Given the description of an element on the screen output the (x, y) to click on. 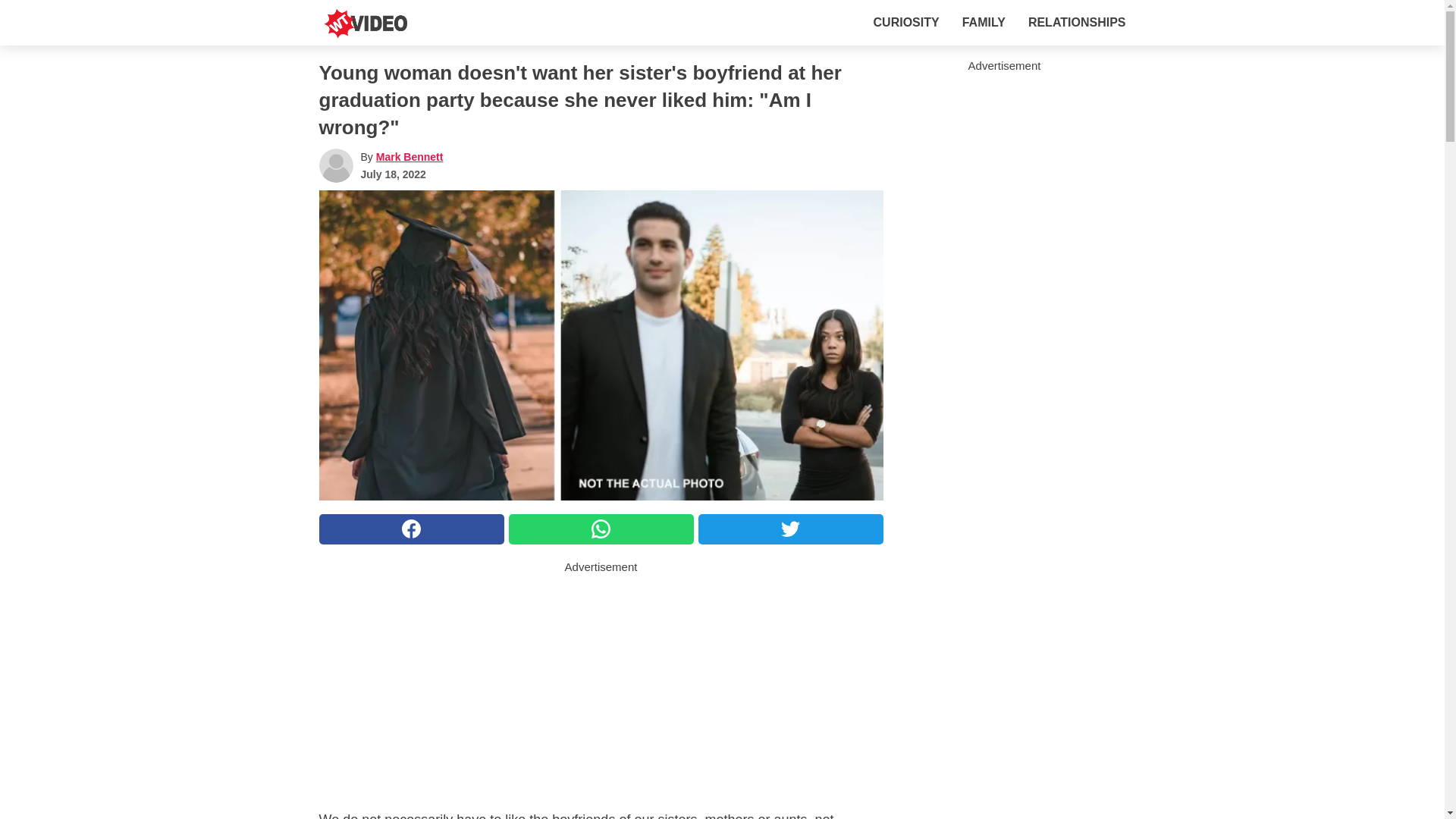
CURIOSITY (906, 22)
Mark Bennett (409, 156)
RELATIONSHIPS (1076, 22)
FAMILY (984, 22)
